Given the description of an element on the screen output the (x, y) to click on. 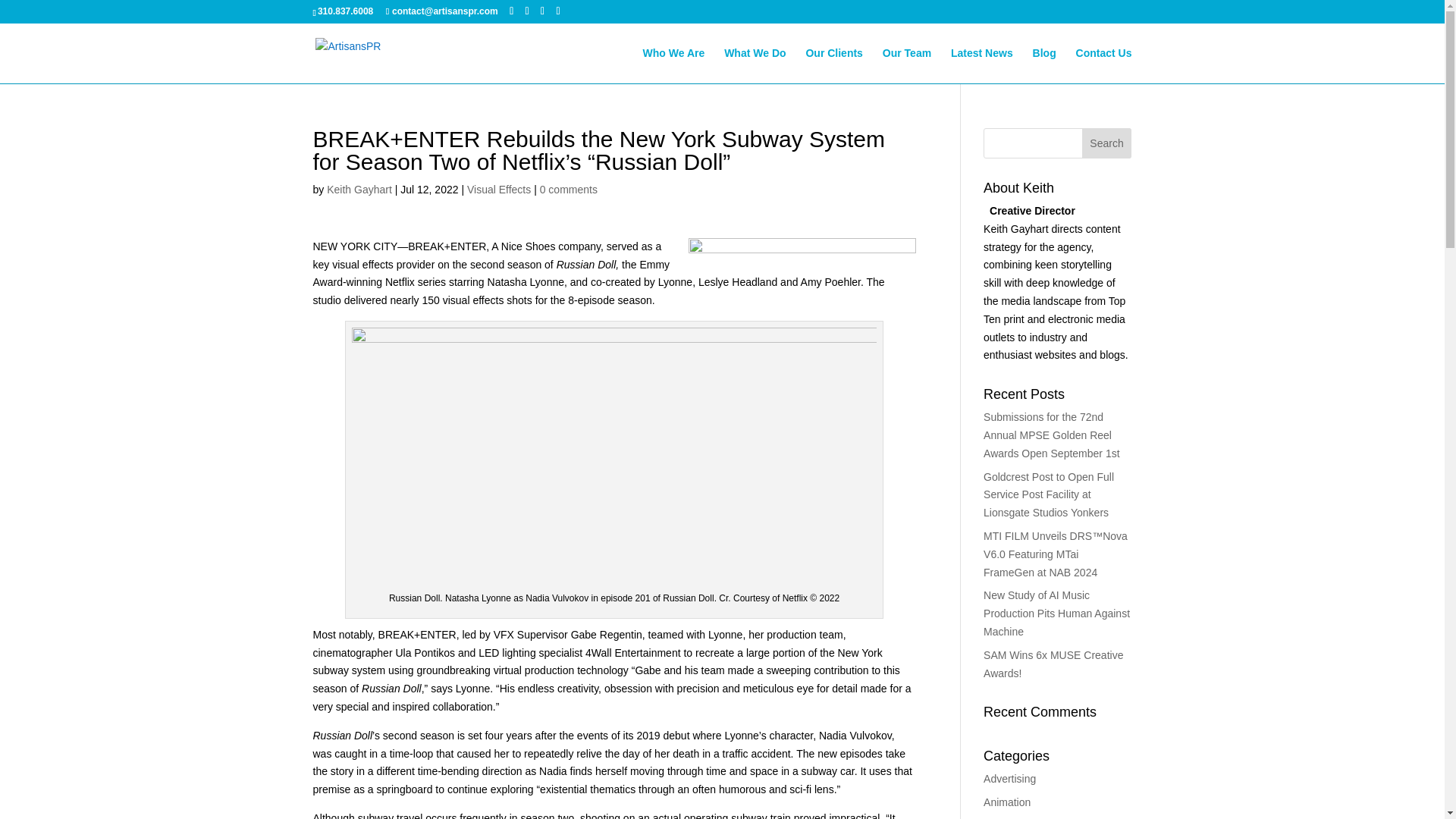
Latest News (981, 65)
Our Clients (833, 65)
Visual Effects (499, 189)
Animation (1007, 802)
0 comments (568, 189)
SAM Wins 6x MUSE Creative Awards! (1053, 664)
Our Team (906, 65)
Keith Gayhart (358, 189)
Who We Are (673, 65)
Contact Us (1103, 65)
New Study of AI Music Production Pits Human Against Machine (1056, 613)
What We Do (754, 65)
Search (1106, 142)
Advertising (1009, 778)
